Given the description of an element on the screen output the (x, y) to click on. 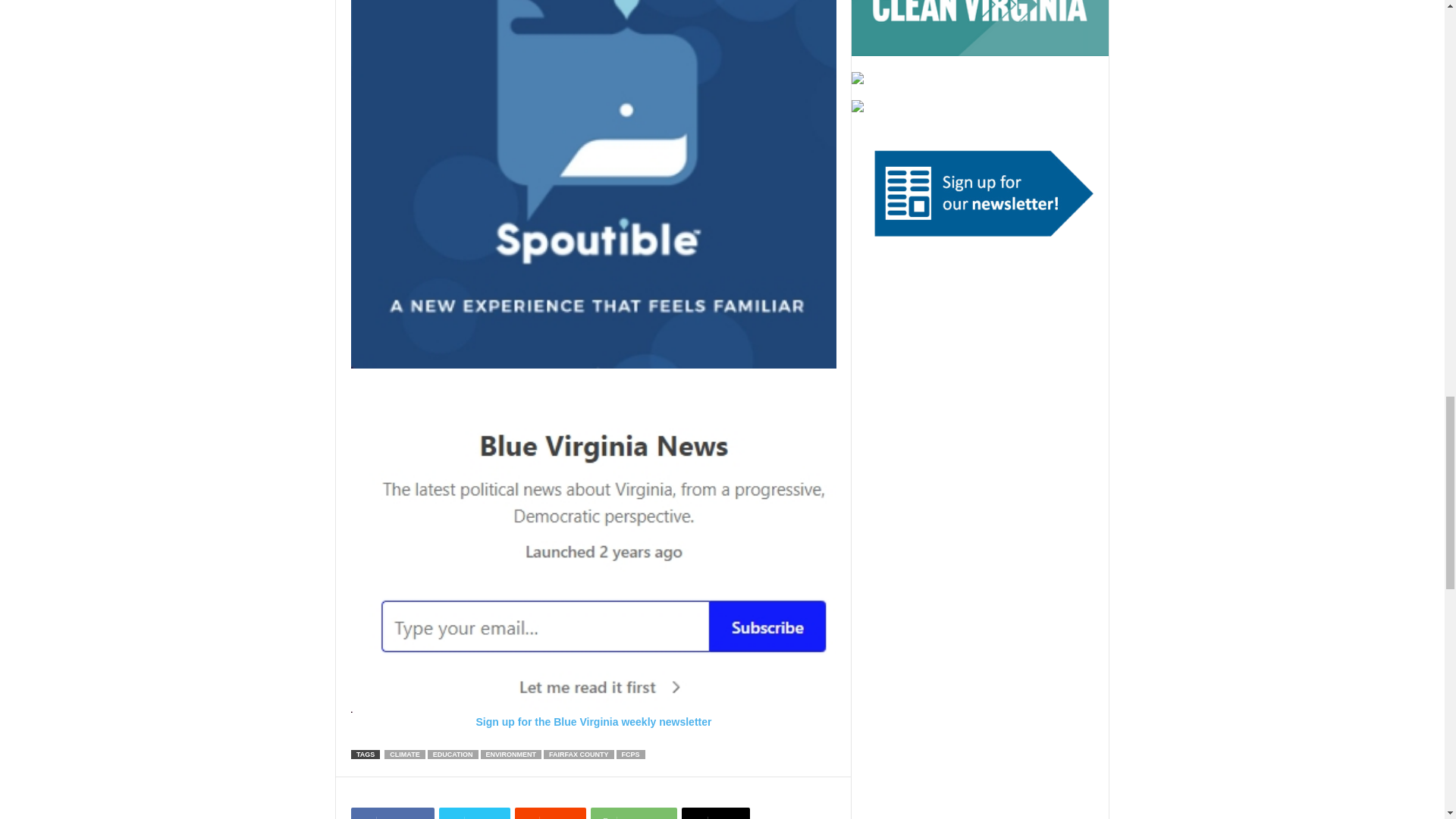
WhatsApp (634, 813)
Facebook (391, 813)
Twitter (475, 813)
Email (715, 813)
ReddIt (550, 813)
